Given the description of an element on the screen output the (x, y) to click on. 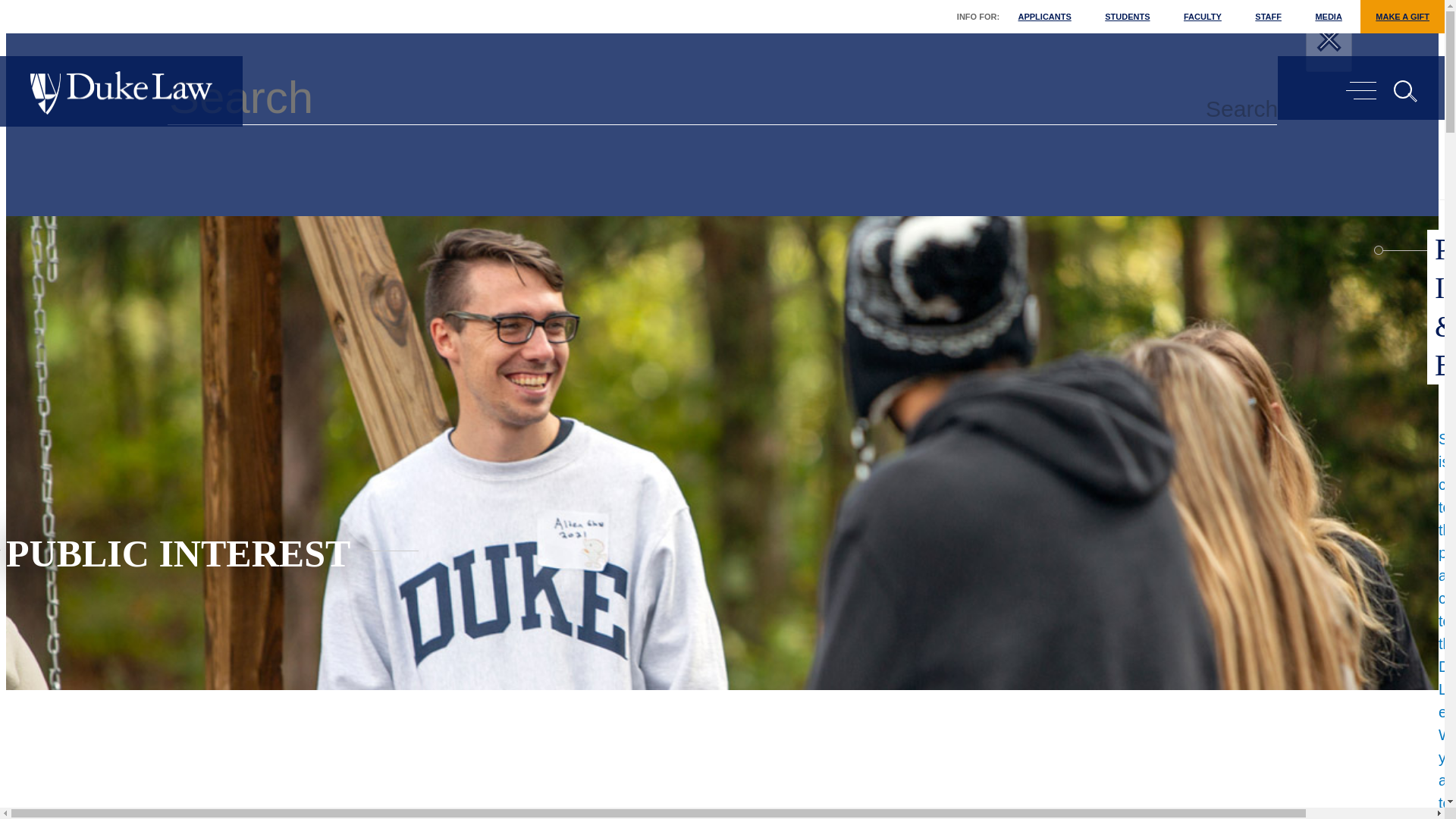
FACULTY (1202, 16)
MEDIA (1328, 16)
APPLICANTS (1044, 16)
MAKE A GIFT (1401, 16)
Home (121, 94)
STUDENTS (1126, 16)
STAFF (1268, 16)
Search (1241, 108)
Main menu toggle (1360, 90)
